Given the description of an element on the screen output the (x, y) to click on. 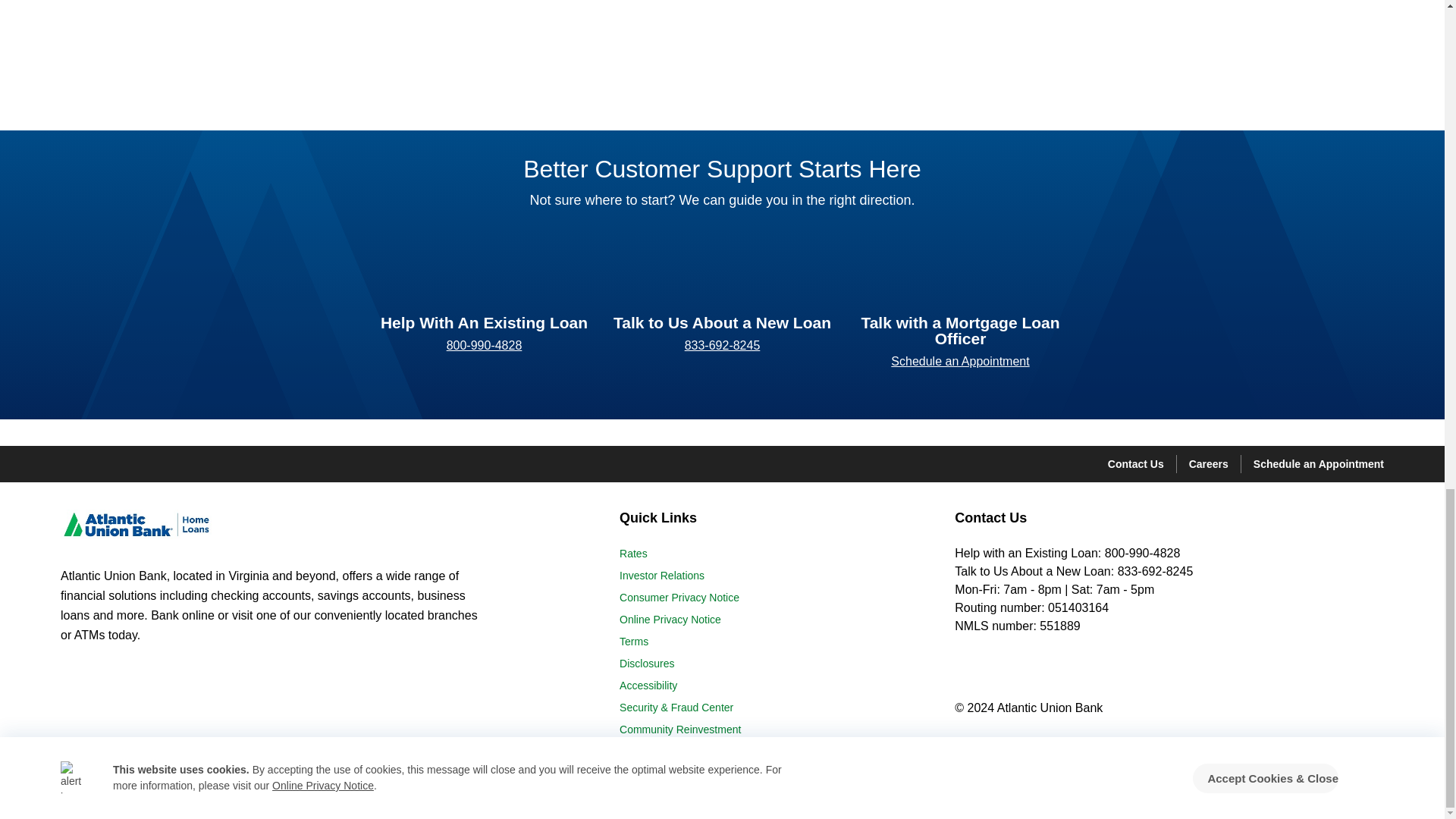
800-990-4828 (484, 344)
833-692-8245 (722, 344)
Schedule an Appointment (960, 361)
